Given the description of an element on the screen output the (x, y) to click on. 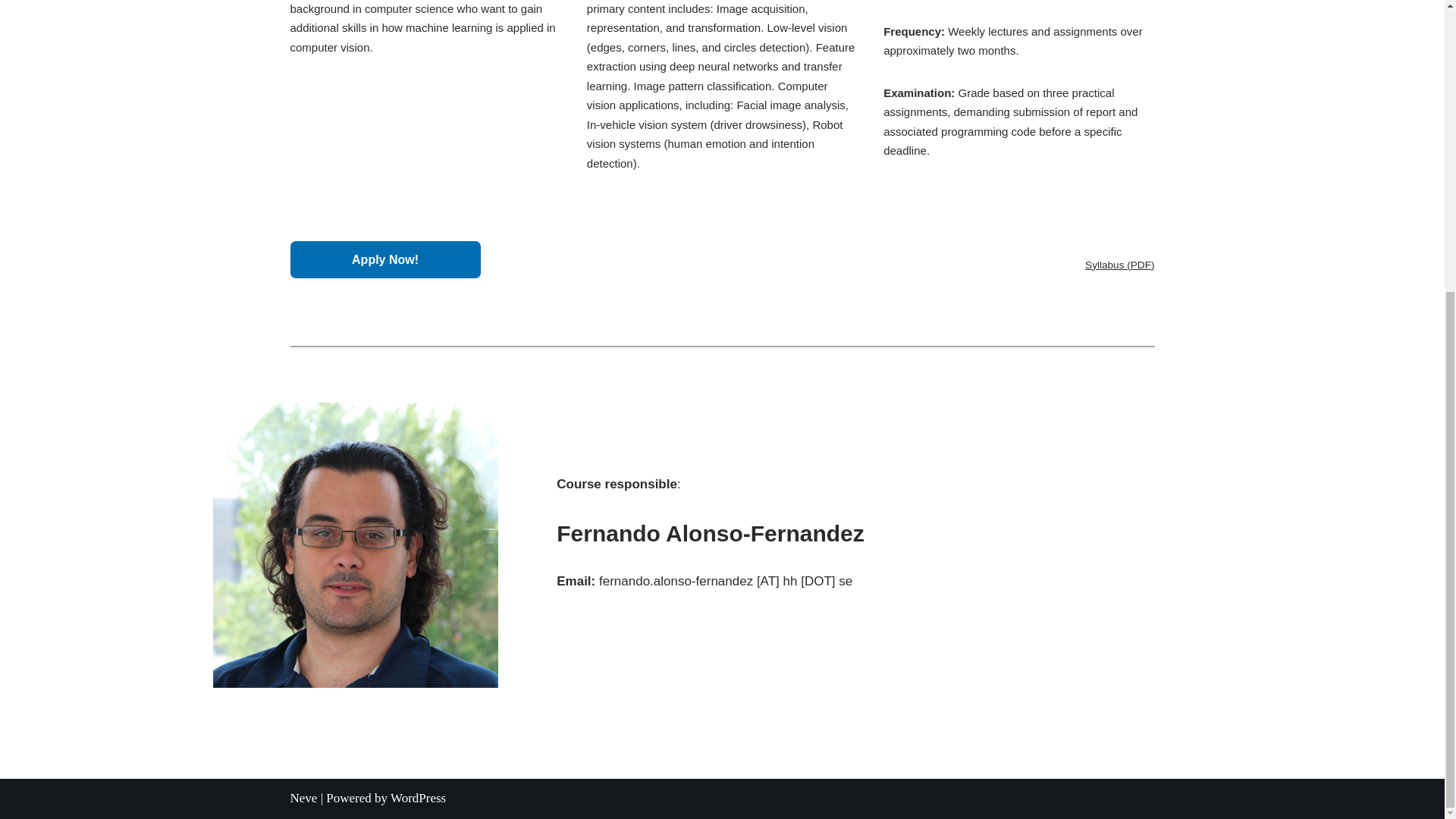
Apply Now! (384, 259)
WordPress (417, 798)
Neve (303, 798)
